Given the description of an element on the screen output the (x, y) to click on. 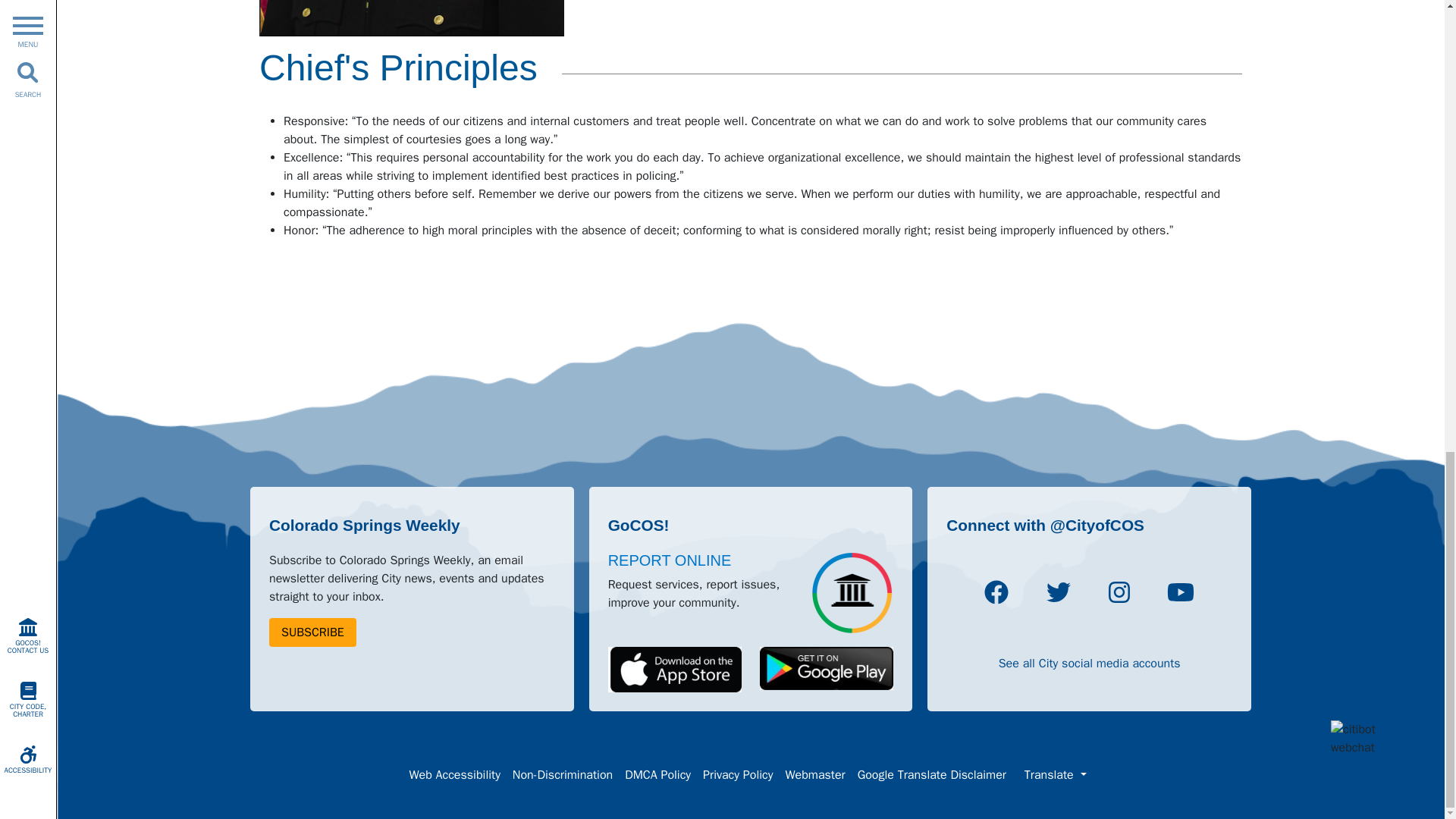
Web Accessibility (454, 775)
See all City social media accounts (1089, 663)
Webmaster (814, 775)
SUBSCRIBE (312, 632)
Translate (1055, 774)
Non-Discrimination (562, 775)
Google Translate Disclaimer (931, 775)
DMCA Policy (657, 775)
Privacy Policy (737, 775)
